Given the description of an element on the screen output the (x, y) to click on. 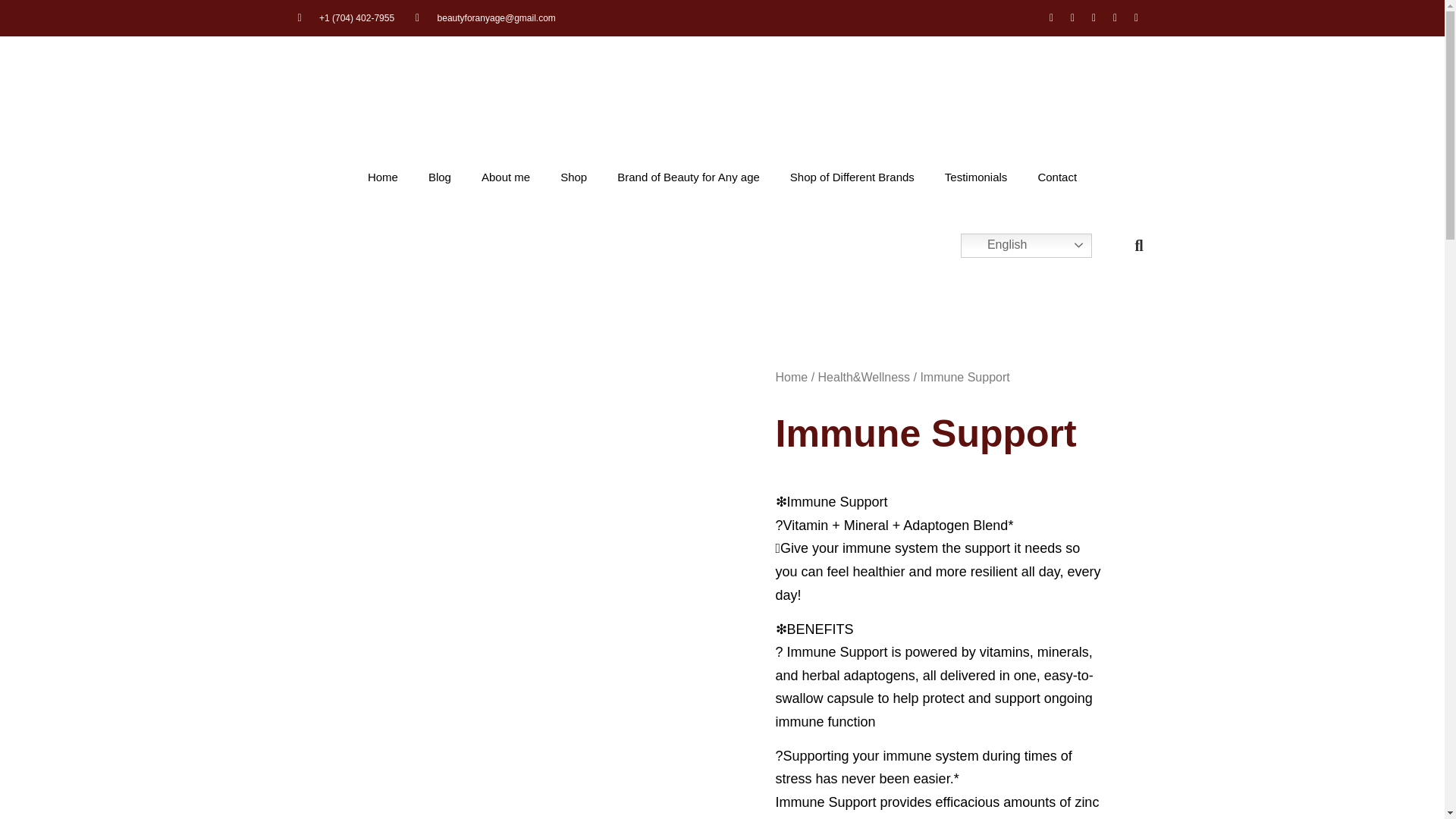
Brand of Beauty for Any age (688, 177)
Testimonials (976, 177)
Home (791, 377)
Shop of Different Brands (852, 177)
Contact (1057, 177)
English (1026, 245)
About me (504, 177)
